Given the description of an element on the screen output the (x, y) to click on. 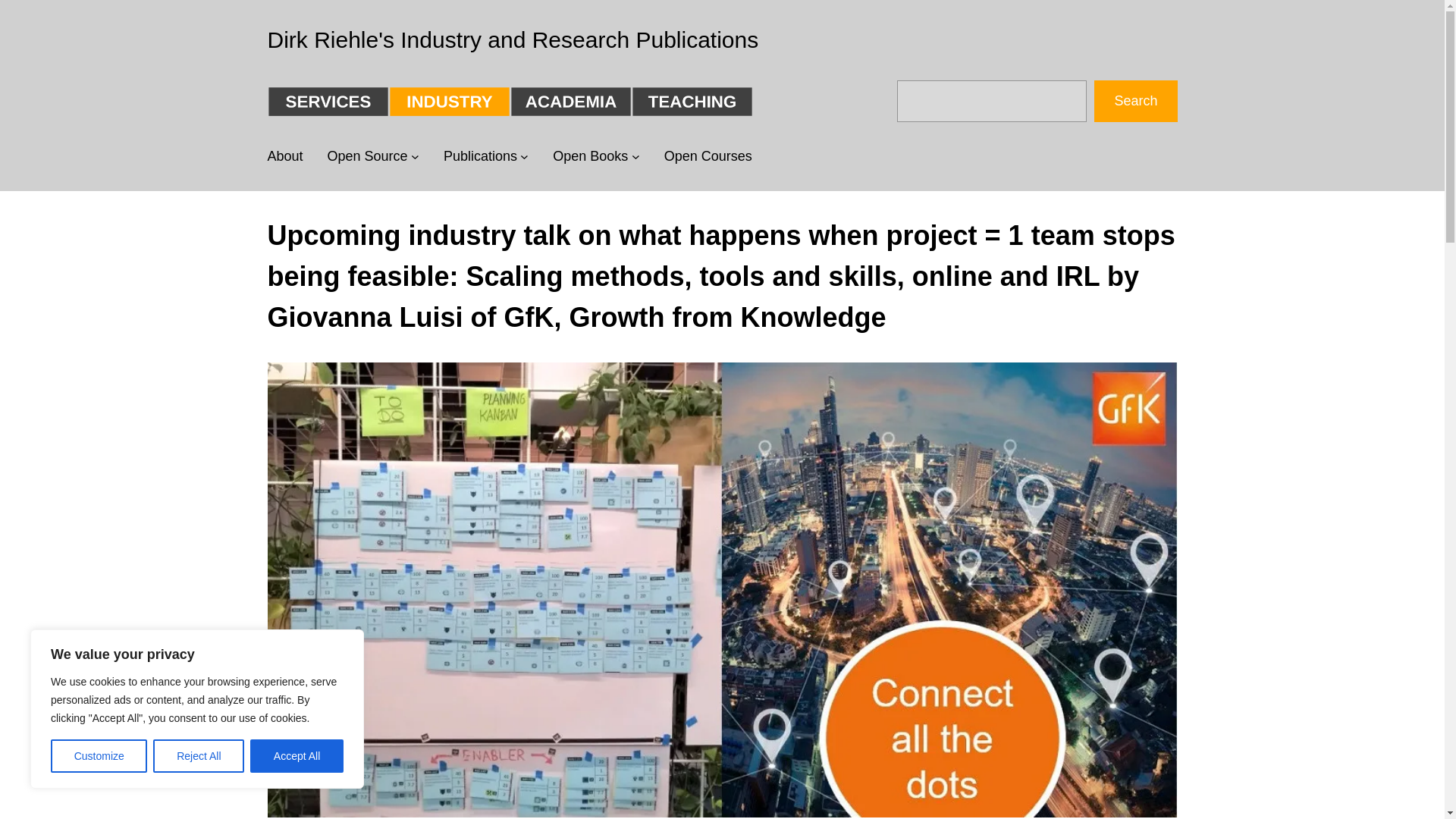
Open Source (367, 156)
About (284, 156)
Dirk Riehle's Industry and Research Publications (512, 39)
Publications (480, 156)
Search (1135, 101)
